Given the description of an element on the screen output the (x, y) to click on. 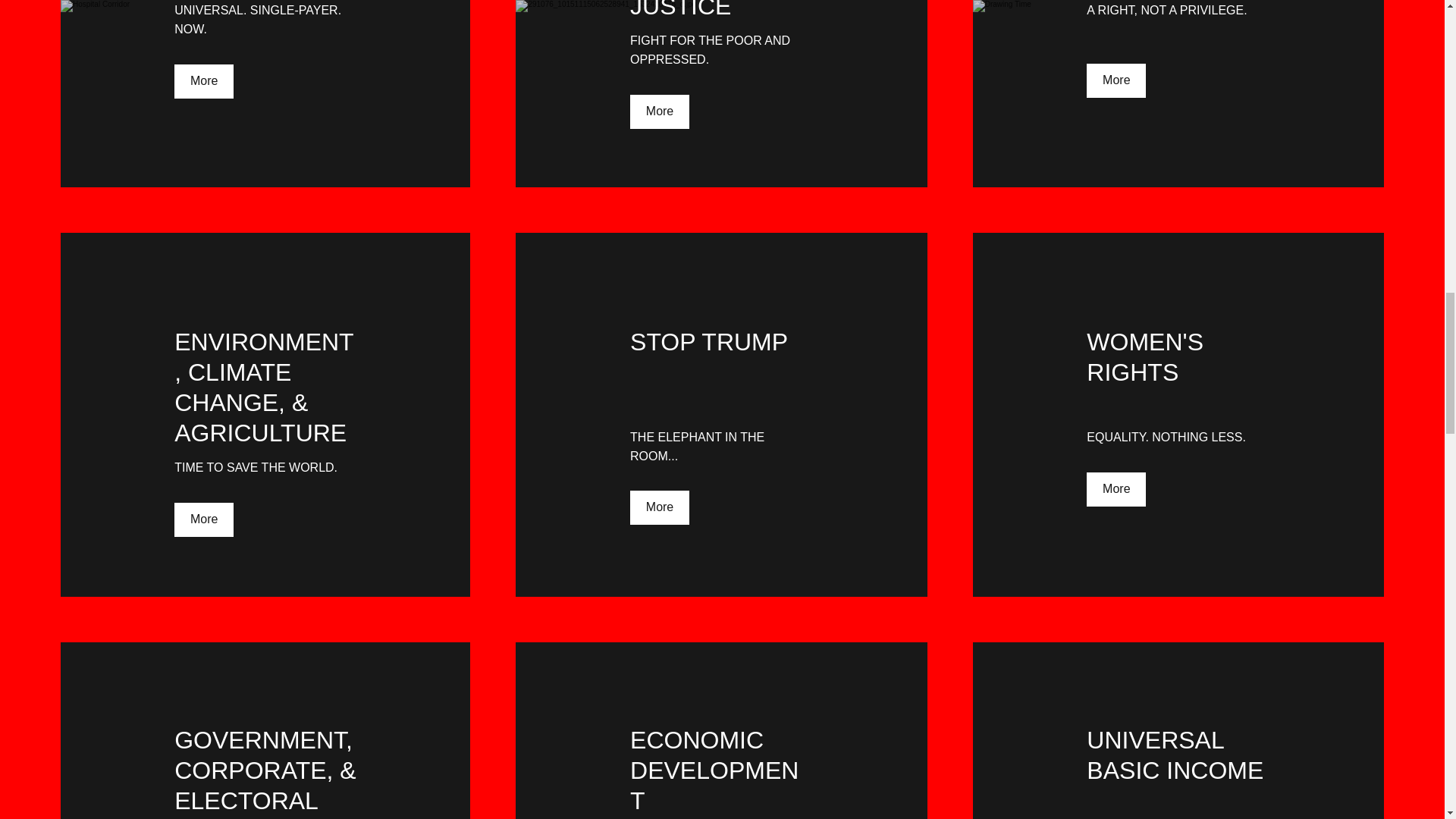
More (1115, 489)
More (203, 519)
More (659, 111)
More (659, 507)
More (203, 81)
More (1115, 80)
